Given the description of an element on the screen output the (x, y) to click on. 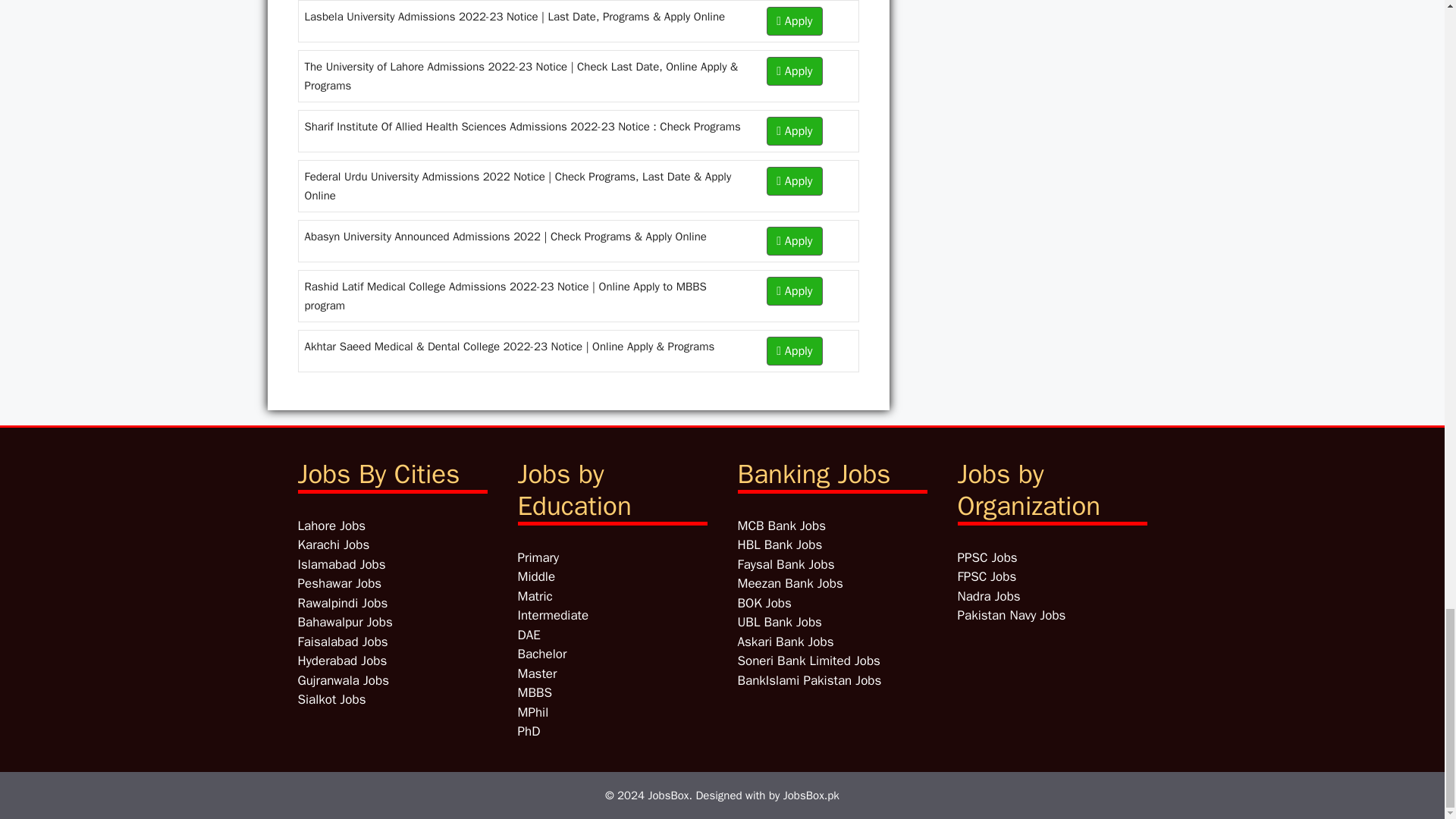
Jobs in Sialkot (331, 699)
Jobs in Rawalpindi (342, 602)
Jobs in Lahore (331, 524)
Apply (794, 240)
Apply (794, 70)
Karachi Jobs (333, 544)
Jobs in Karachi (333, 544)
Apply (794, 131)
Jobs in Islamabad (341, 564)
Peshawar Jobs (339, 583)
Jobs in Hyderabad (342, 660)
Lahore Jobs (331, 524)
Jobs in Faisalabad (342, 641)
Jobs in Peshawar (339, 583)
Rawalpindi Jobs (342, 602)
